Given the description of an element on the screen output the (x, y) to click on. 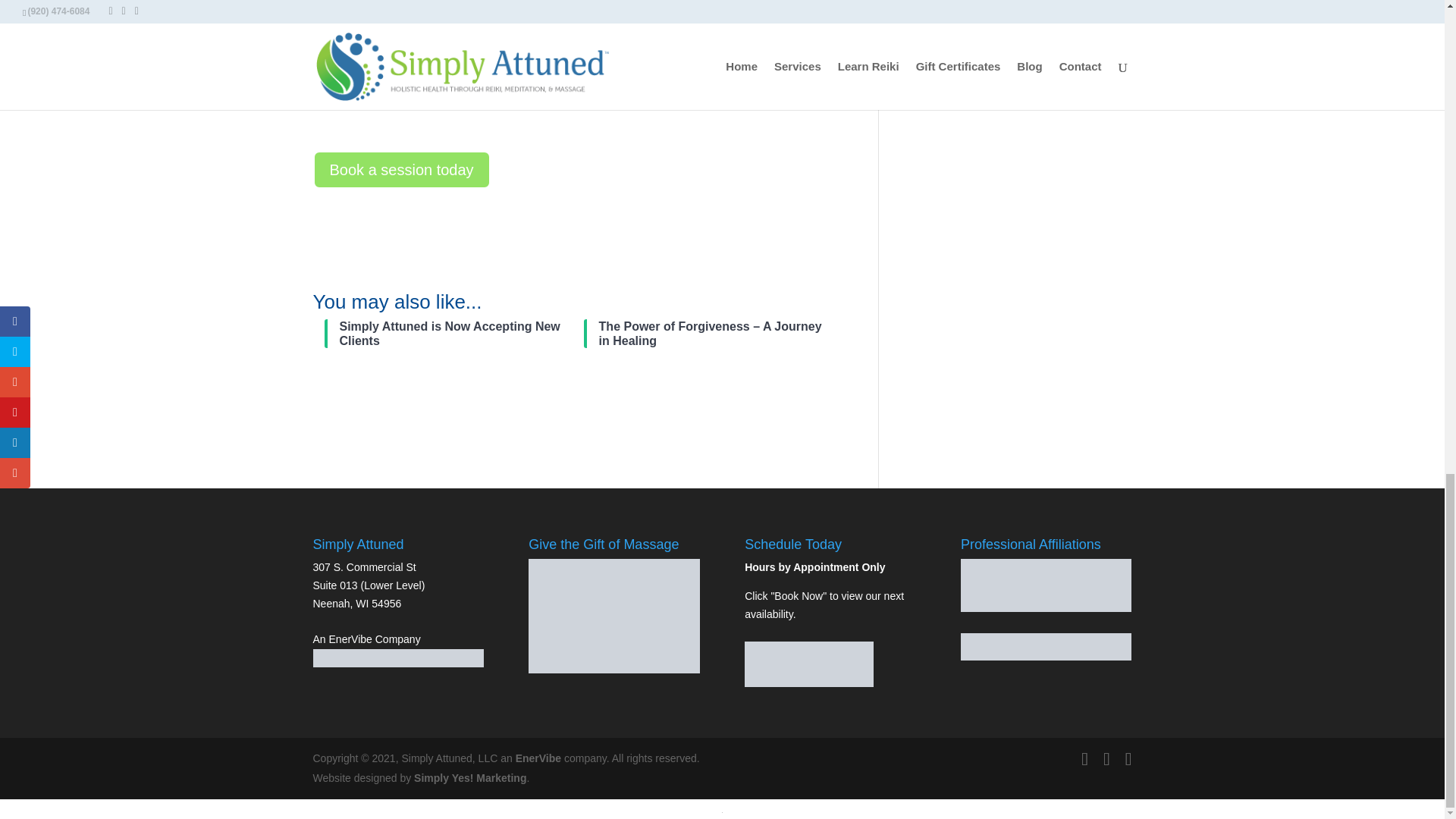
Simply Attuned is Now Accepting New Clients (457, 333)
Book a session today (401, 169)
